Given the description of an element on the screen output the (x, y) to click on. 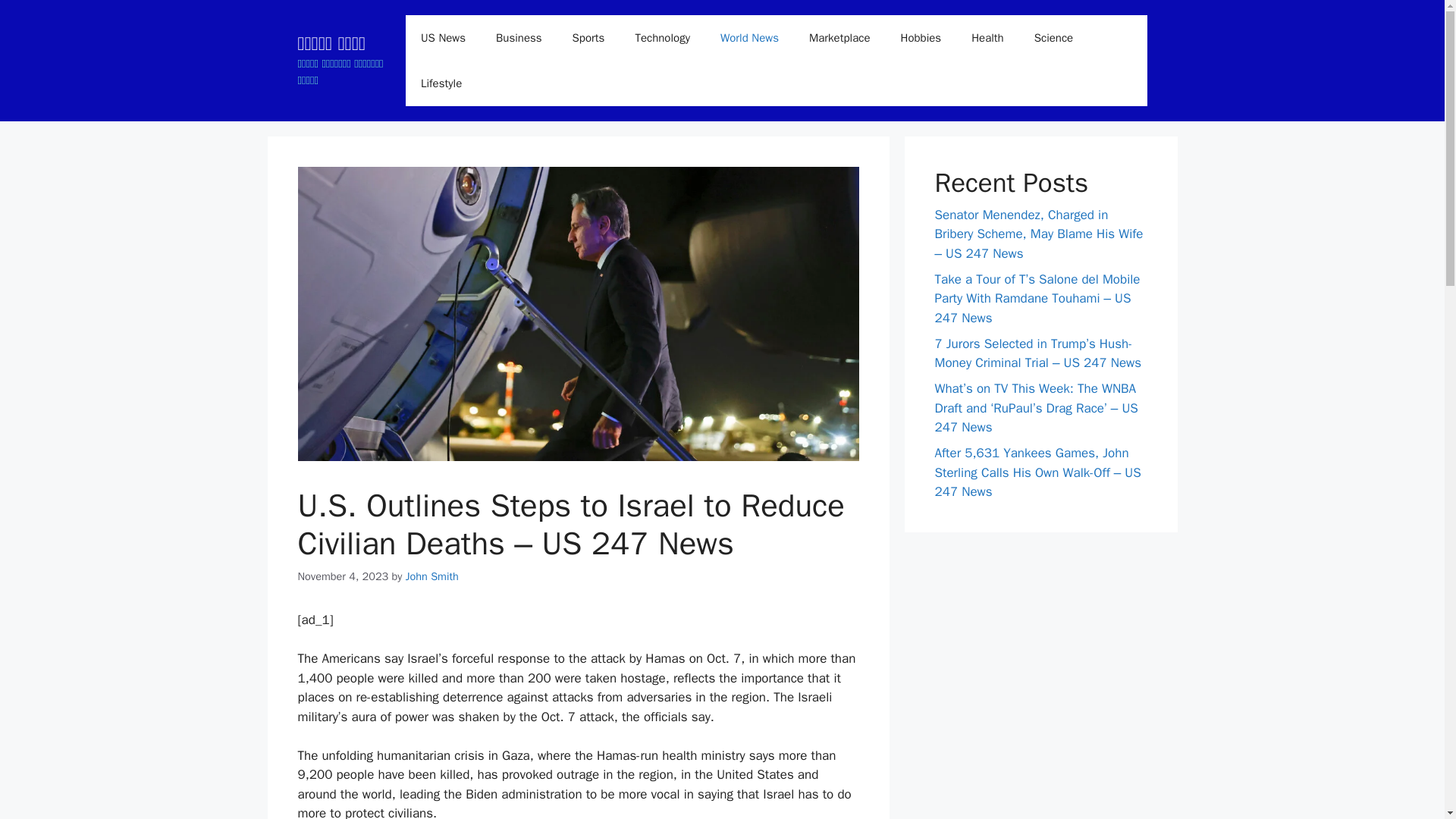
Health (987, 37)
Hobbies (920, 37)
View all posts by John Smith (432, 576)
John Smith (432, 576)
Lifestyle (441, 83)
Business (518, 37)
World News (748, 37)
Technology (662, 37)
US News (443, 37)
Sports (588, 37)
Marketplace (839, 37)
Science (1054, 37)
